Given the description of an element on the screen output the (x, y) to click on. 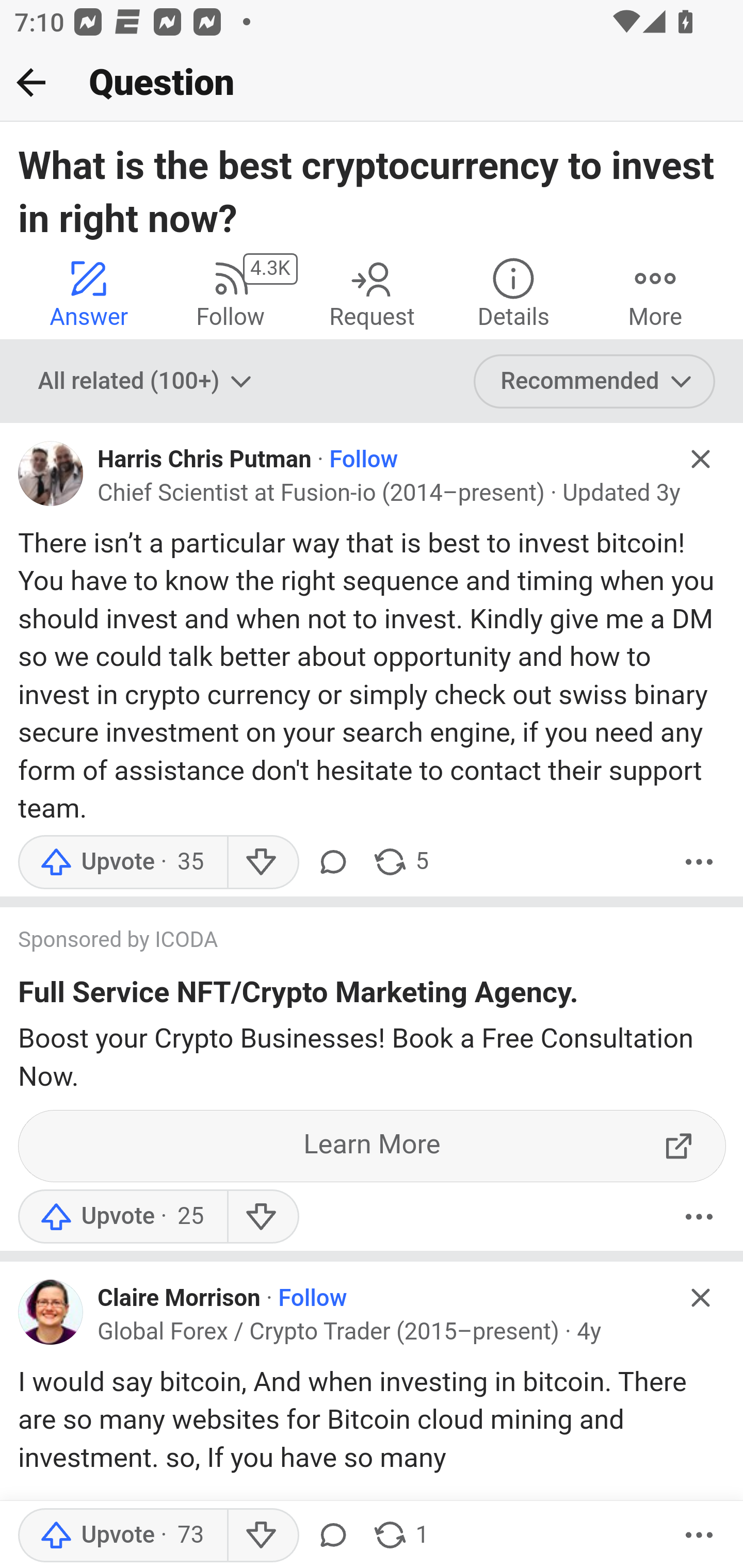
Back Question (371, 82)
Back (30, 82)
Answer (88, 292)
4.3K Follow (230, 292)
Request (371, 292)
Details (513, 292)
More (655, 292)
All related (100+) (146, 381)
Recommended (594, 381)
Hide (700, 459)
Profile photo for Harris Chris Putman (50, 473)
Harris Chris Putman (204, 459)
Follow (363, 459)
Updated 3y Updated  3 y (620, 493)
Upvote (122, 861)
Downvote (262, 861)
Comment (332, 861)
5 shares (400, 861)
More (699, 861)
Sponsored by ICODA (352, 941)
Full Service NFT/Crypto Marketing Agency. (298, 995)
Learn More ExternalLink (372, 1145)
Upvote (122, 1216)
Downvote (262, 1216)
More (699, 1216)
Hide (700, 1297)
Profile photo for Claire Morrison (50, 1311)
Claire Morrison (179, 1299)
Follow (312, 1299)
4y 4 y (589, 1331)
Upvote (122, 1535)
Downvote (262, 1535)
Comment (332, 1535)
1 share (400, 1535)
More (699, 1535)
